Given the description of an element on the screen output the (x, y) to click on. 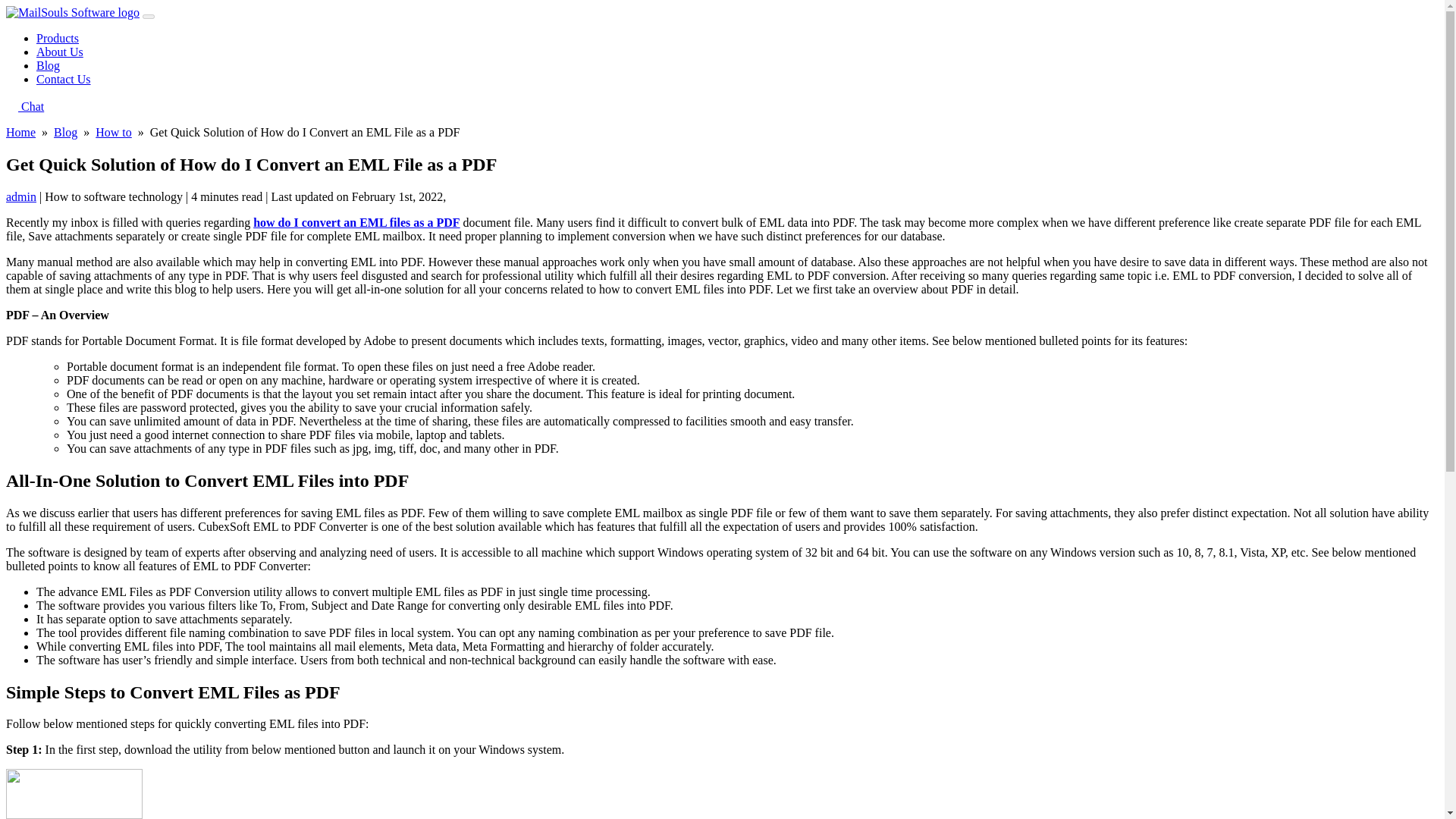
Contact Us (63, 78)
Products (57, 38)
How to (114, 132)
how do I convert an EML files as a PDF (356, 222)
Chat Bubbles Chat (24, 106)
Home (19, 132)
Blog (47, 65)
admin (20, 196)
Chat Bubbles (11, 104)
About Us (59, 51)
